Given the description of an element on the screen output the (x, y) to click on. 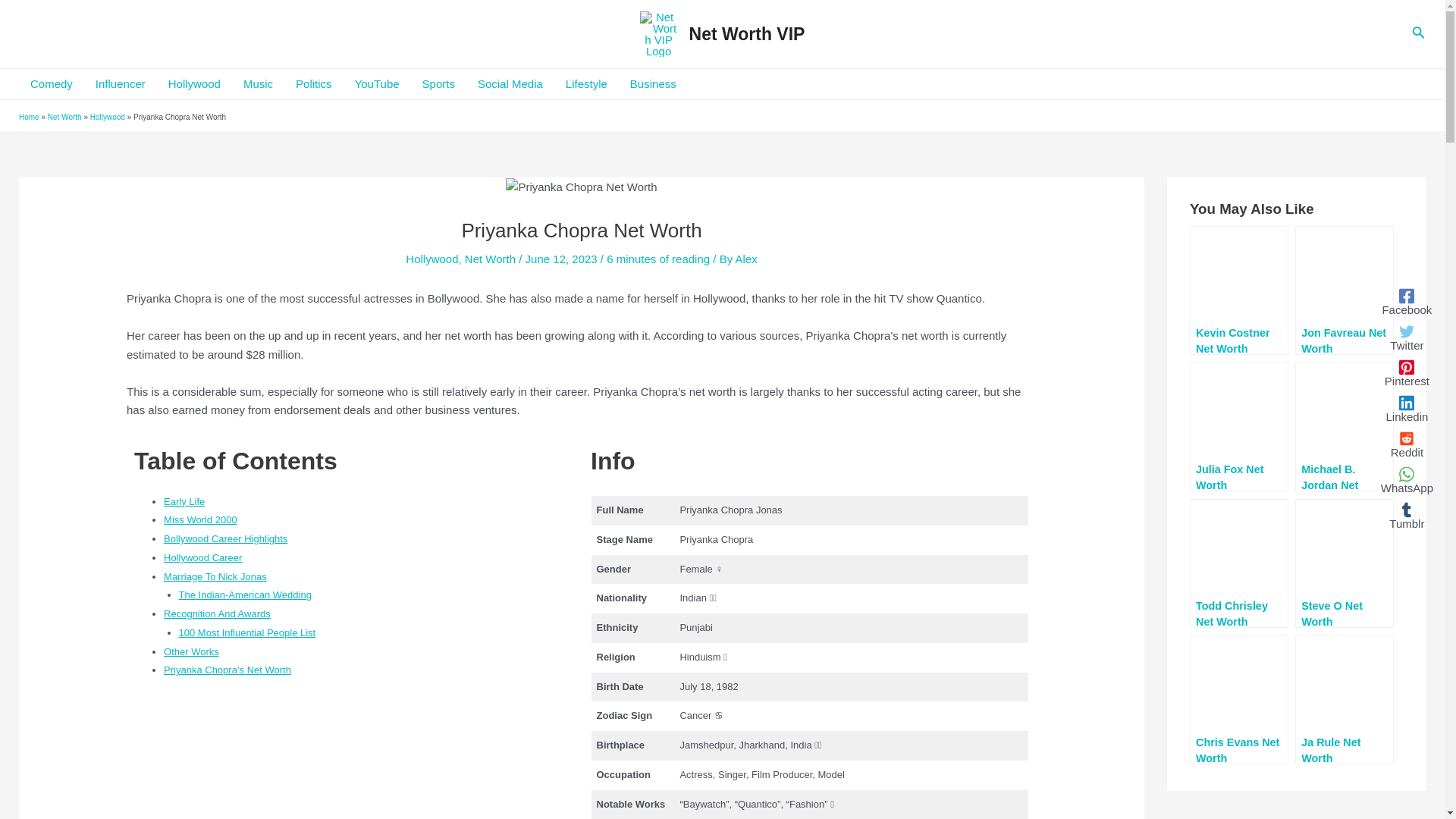
Influencer (120, 83)
Sports (437, 83)
Politics (313, 83)
Lifestyle (586, 83)
View all posts by Alex (746, 258)
YouTube (376, 83)
Comedy (51, 83)
Net Worth VIP (746, 34)
Hollywood (194, 83)
Business (652, 83)
Music (257, 83)
Social Media (509, 83)
